Given the description of an element on the screen output the (x, y) to click on. 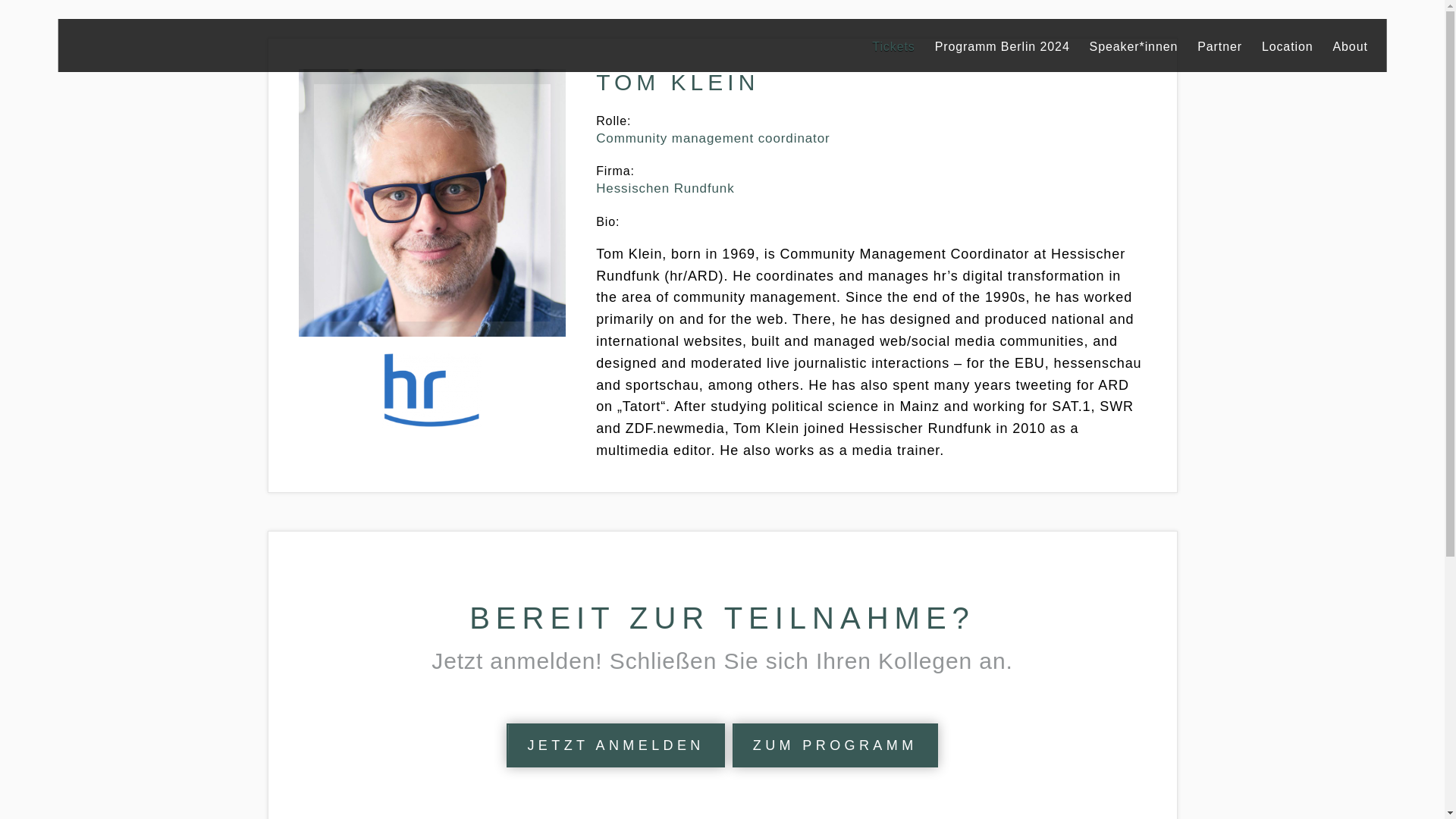
JETZT ANMELDEN (614, 745)
Programm Berlin 2024 (1002, 45)
Jetzt Anmelden (614, 745)
zum Programm (834, 745)
Location (1287, 45)
ZUM PROGRAMM (834, 745)
